Given the description of an element on the screen output the (x, y) to click on. 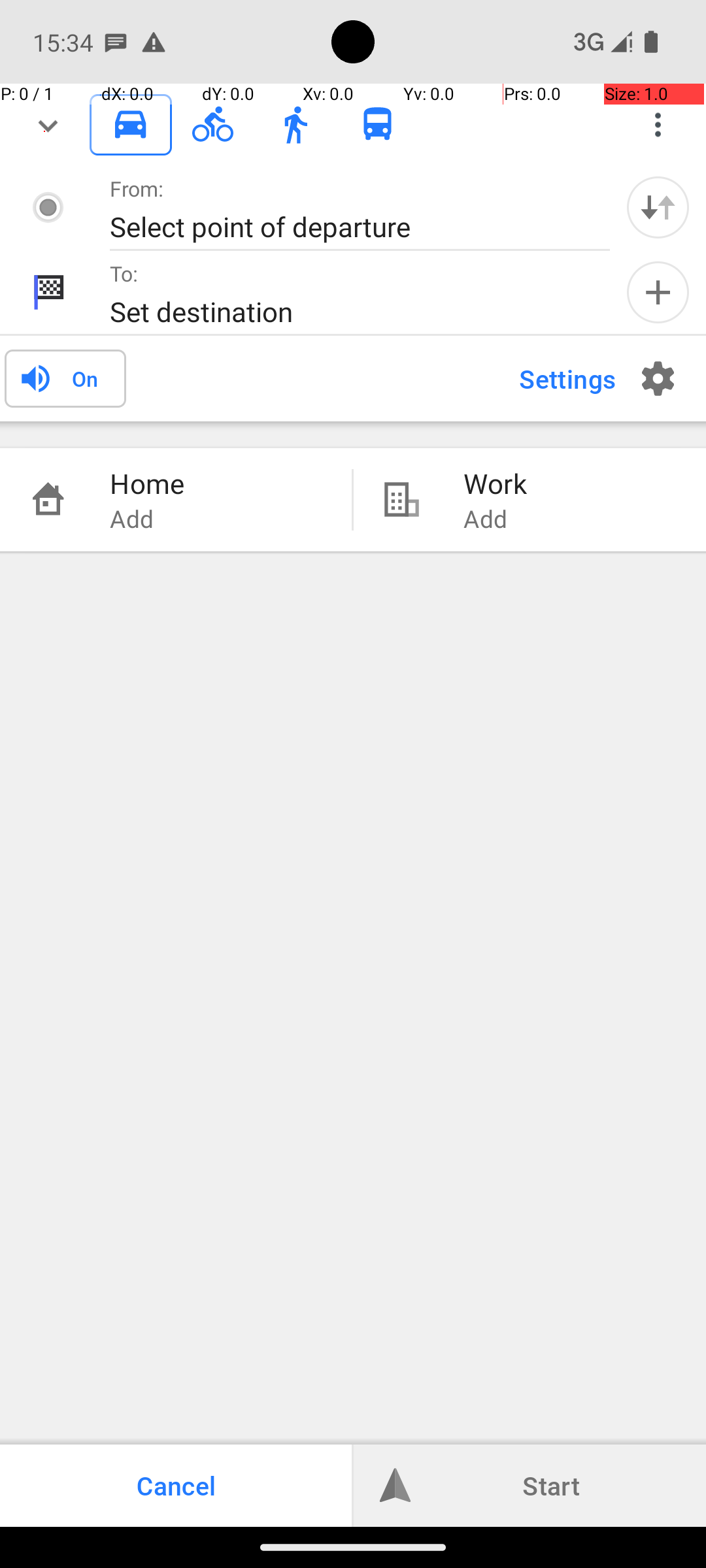
Map Element type: android.view.View (353, 763)
fold/unfold Element type: android.widget.ImageView (48, 124)
Choose app modes Element type: android.widget.ImageView (657, 124)
Driving Element type: android.widget.FrameLayout (130, 124)
Cycling Element type: android.widget.FrameLayout (212, 124)
Walking Element type: android.widget.FrameLayout (295, 124)
Public transport Element type: android.widget.FrameLayout (377, 124)
From: Element type: android.widget.TextView (136, 188)
Select point of departure Element type: android.widget.TextView (345, 226)
Swap Element type: android.widget.FrameLayout (657, 207)
To: Element type: android.widget.TextView (123, 273)
Set destination Element type: android.widget.TextView (345, 310)
Add Element type: android.widget.FrameLayout (657, 292)
Driving checked Element type: android.widget.ImageView (130, 124)
Cycling unchecked Element type: android.widget.ImageView (212, 124)
Walking unchecked Element type: android.widget.ImageView (294, 124)
Public transport unchecked Element type: android.widget.ImageView (377, 124)
On Element type: android.widget.TextView (84, 378)
Work Element type: android.widget.TextView (570, 482)
